Given the description of an element on the screen output the (x, y) to click on. 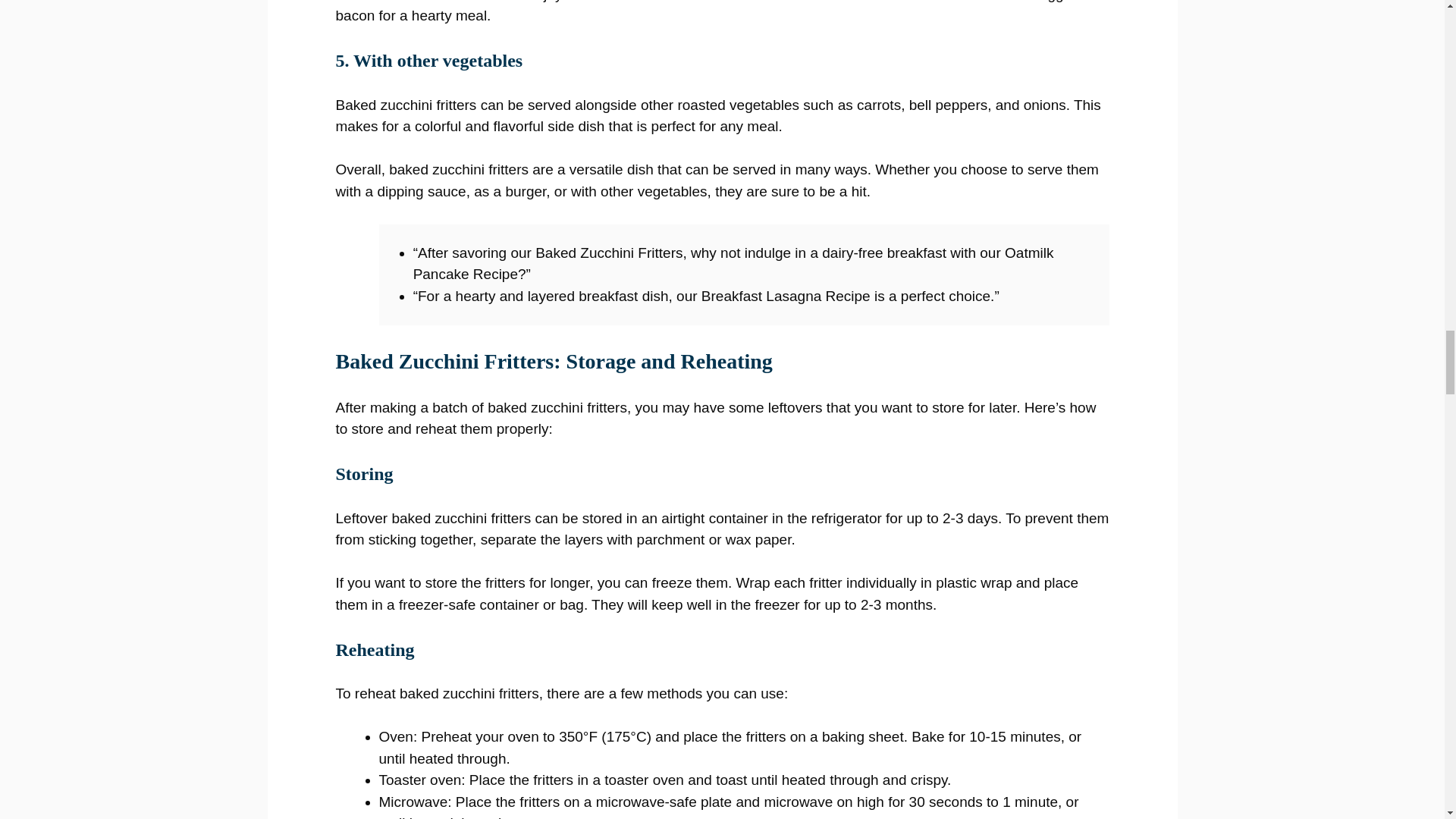
Oatmilk Pancake Recipe (733, 263)
Breakfast Lasagna Recipe (785, 295)
